Given the description of an element on the screen output the (x, y) to click on. 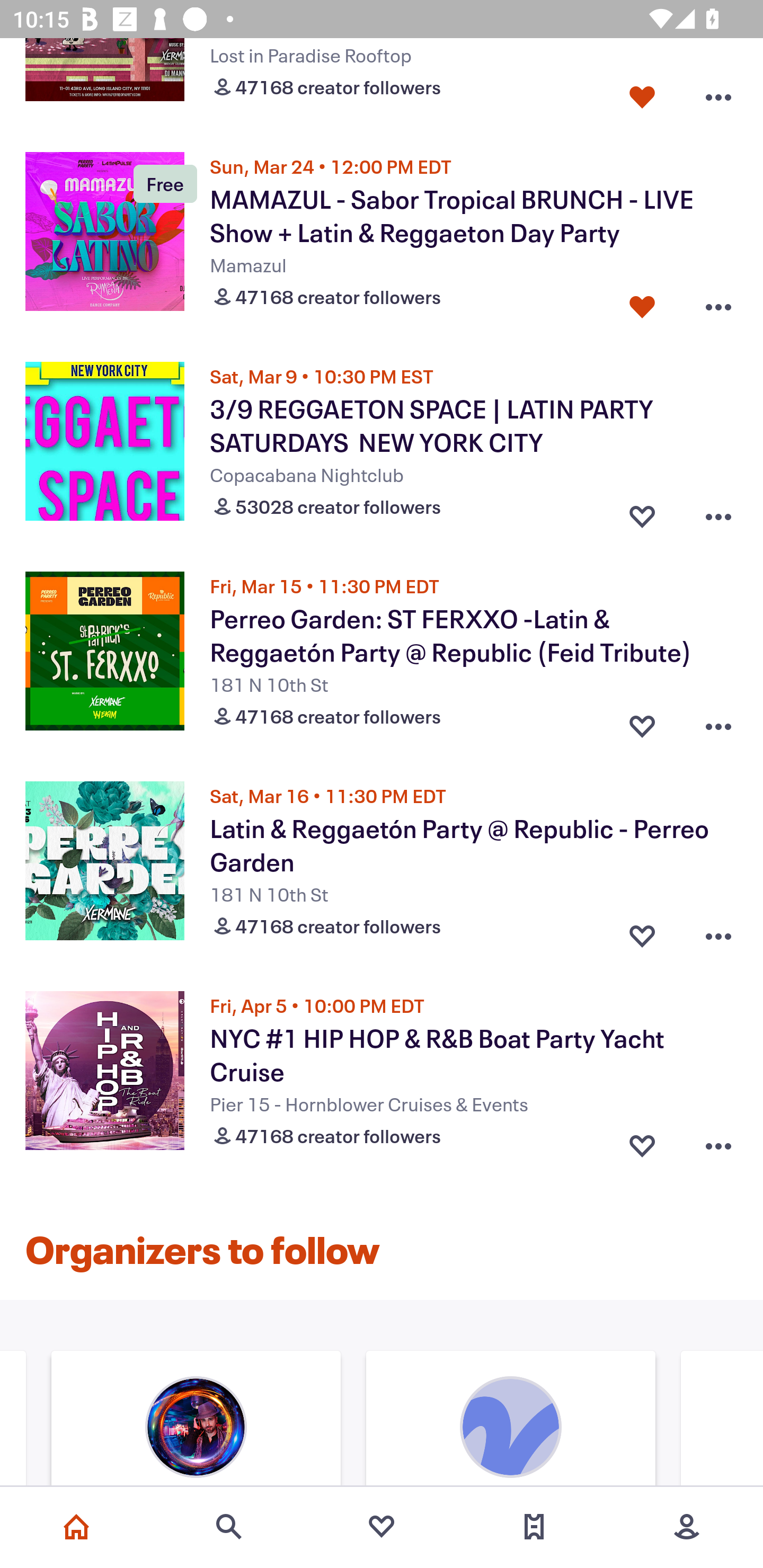
Favorite button (642, 93)
Overflow menu button (718, 93)
Favorite button (642, 303)
Overflow menu button (718, 303)
Favorite button (642, 511)
Overflow menu button (718, 511)
Favorite button (642, 721)
Overflow menu button (718, 721)
Favorite button (642, 931)
Overflow menu button (718, 931)
Favorite button (642, 1142)
Overflow menu button (718, 1142)
Organizer's image LatinParty.com by Club Cache (196, 1420)
Organizer's image Groove (510, 1420)
Home (76, 1526)
Search events (228, 1526)
Favorites (381, 1526)
Tickets (533, 1526)
More (686, 1526)
